Given the description of an element on the screen output the (x, y) to click on. 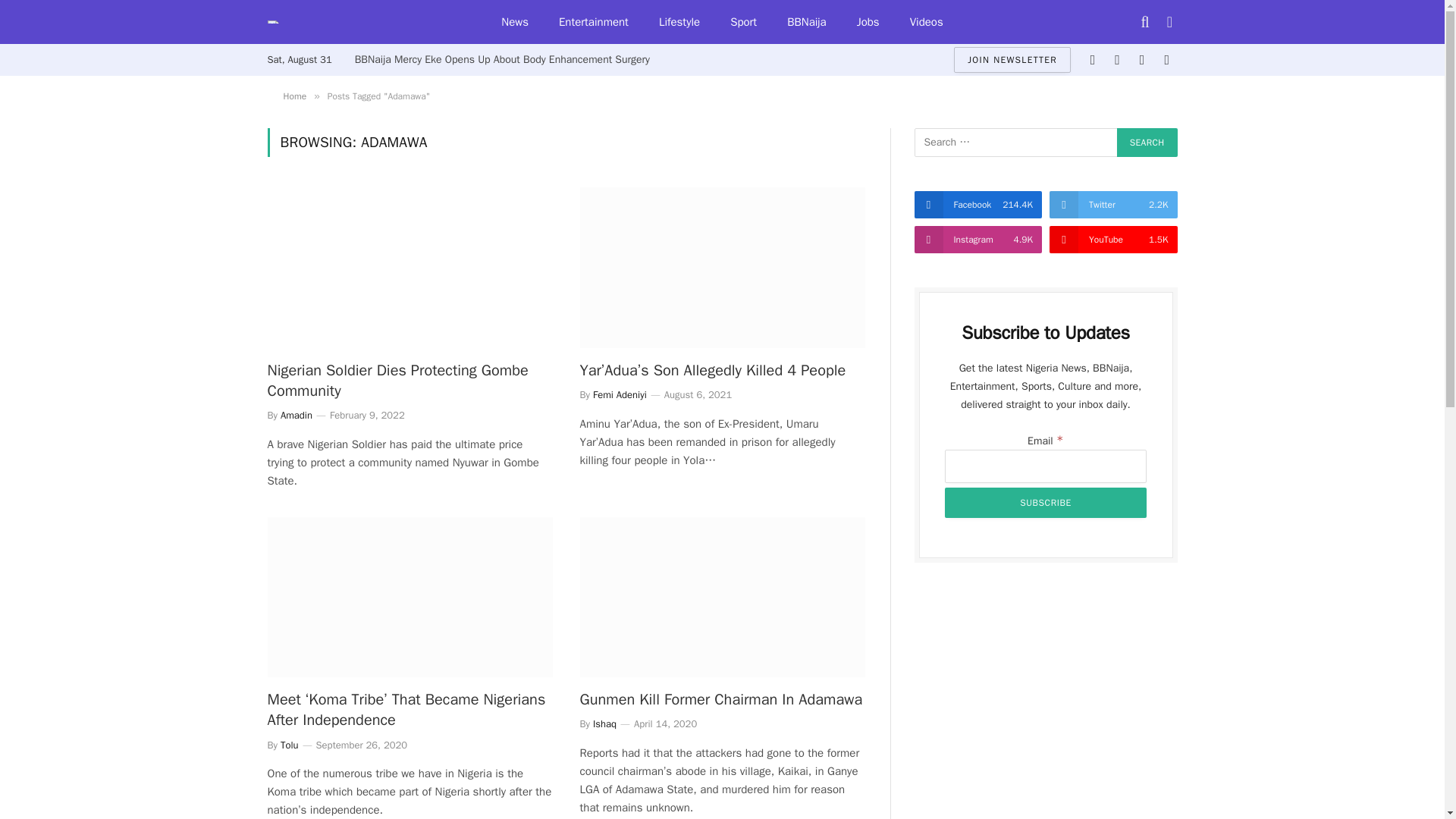
BBNaija (806, 22)
lifestyle (678, 22)
Switch to Dark Design - easier on eyes. (1167, 21)
JOIN NEWSLETTER (1011, 59)
entertainment (593, 22)
news (514, 22)
Sport (742, 22)
BBNaija Mercy Eke Opens Up About Body Enhancement Surgery (506, 59)
News (514, 22)
Posts by Amadin (297, 414)
